Given the description of an element on the screen output the (x, y) to click on. 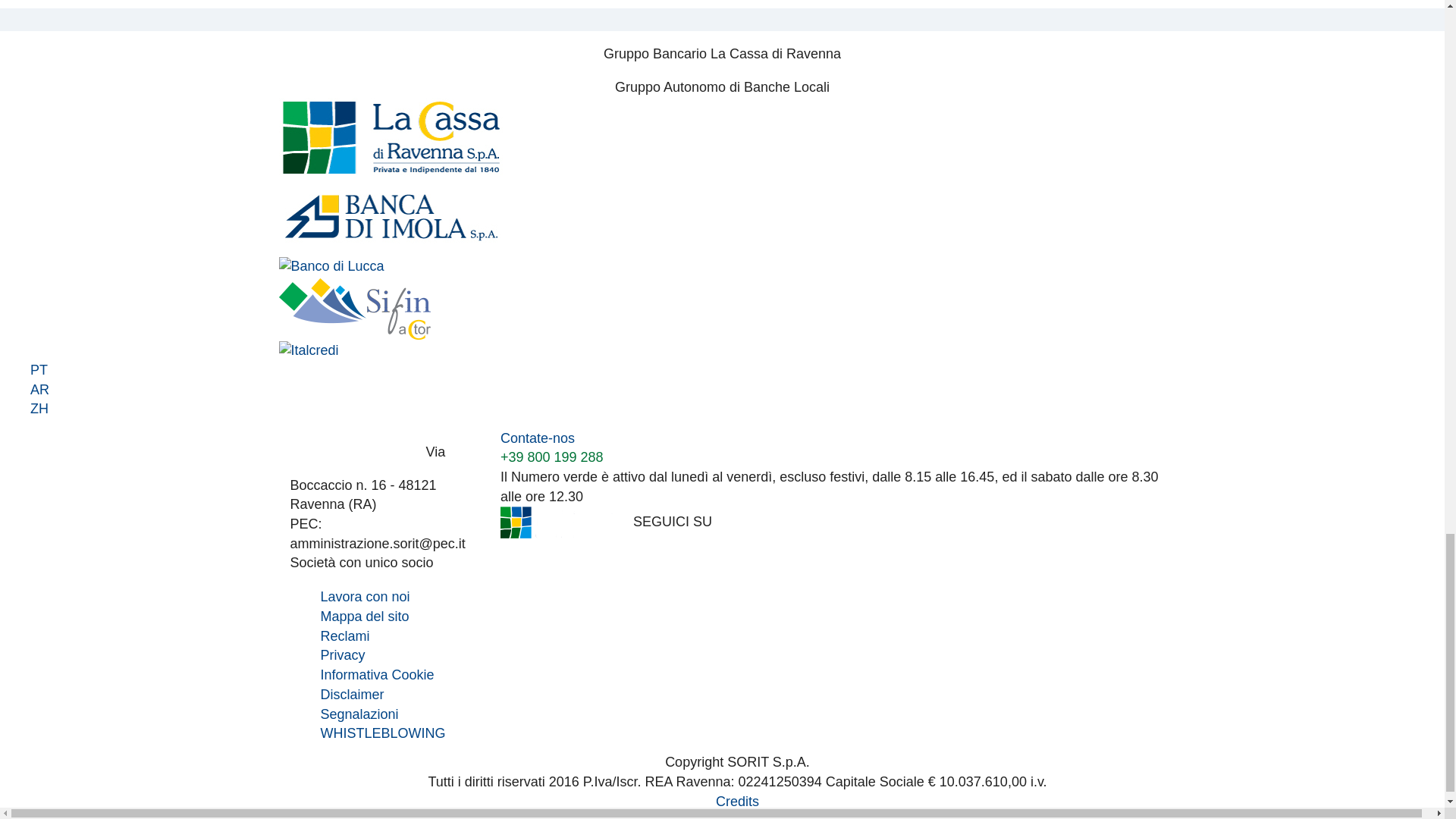
Chinese (737, 409)
Arabic (737, 390)
Portuguese (737, 370)
Sito web realizzato da Vista Tecnologie s.r.l. Ravenna (737, 801)
